Given the description of an element on the screen output the (x, y) to click on. 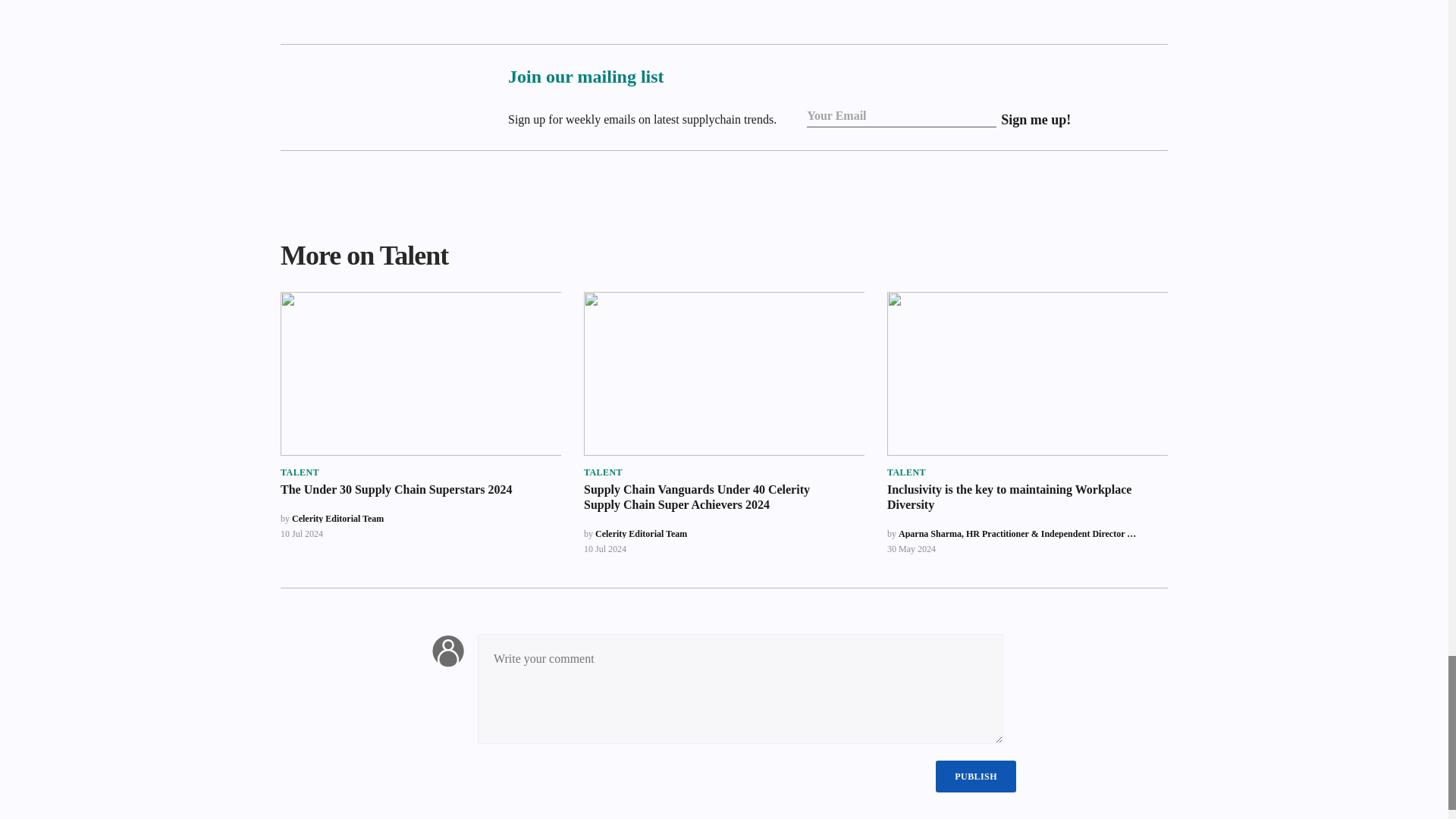
Sign me up! (1035, 119)
Publish (976, 776)
